Given the description of an element on the screen output the (x, y) to click on. 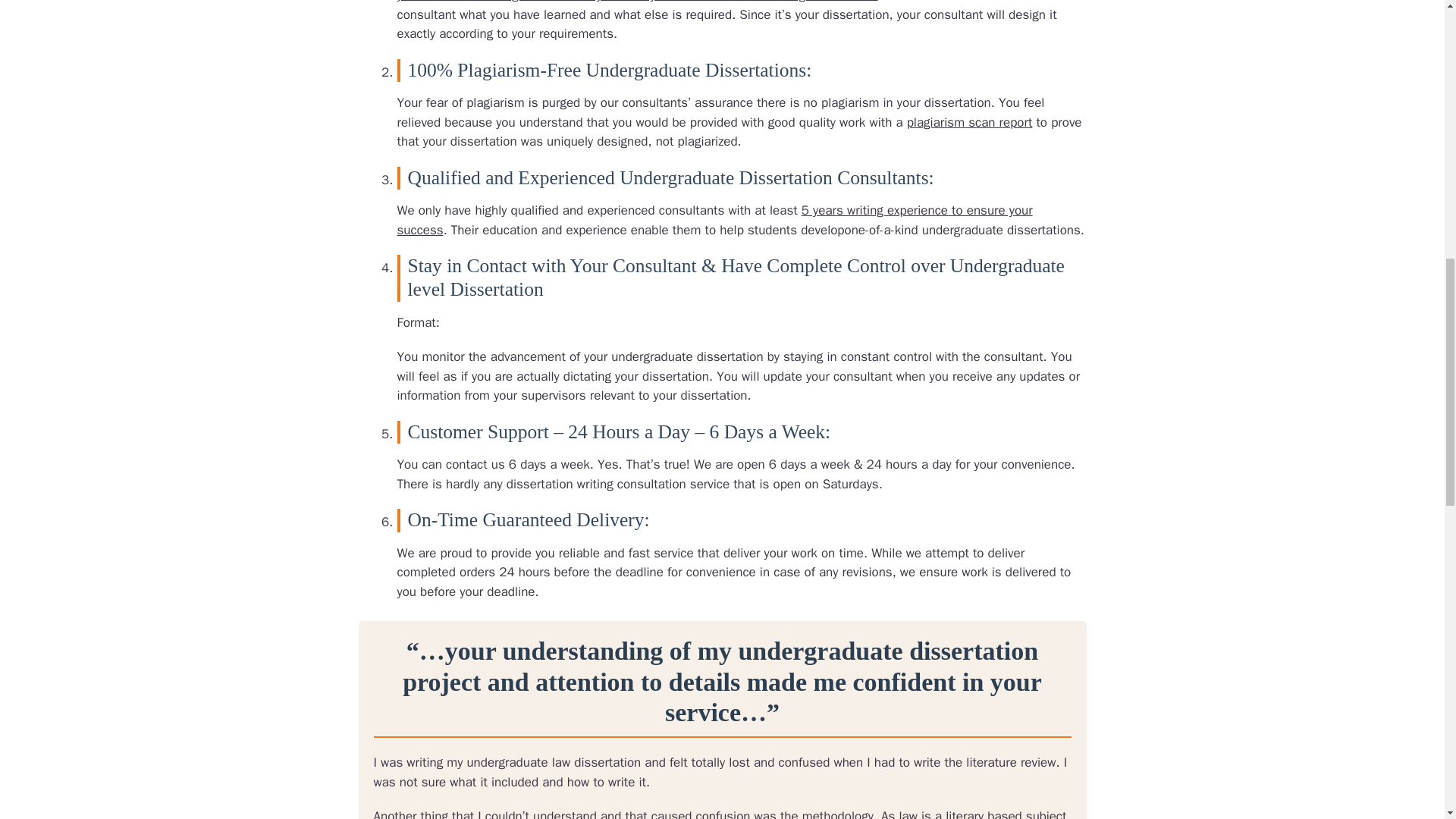
Scroll back to top (1406, 720)
